Given the description of an element on the screen output the (x, y) to click on. 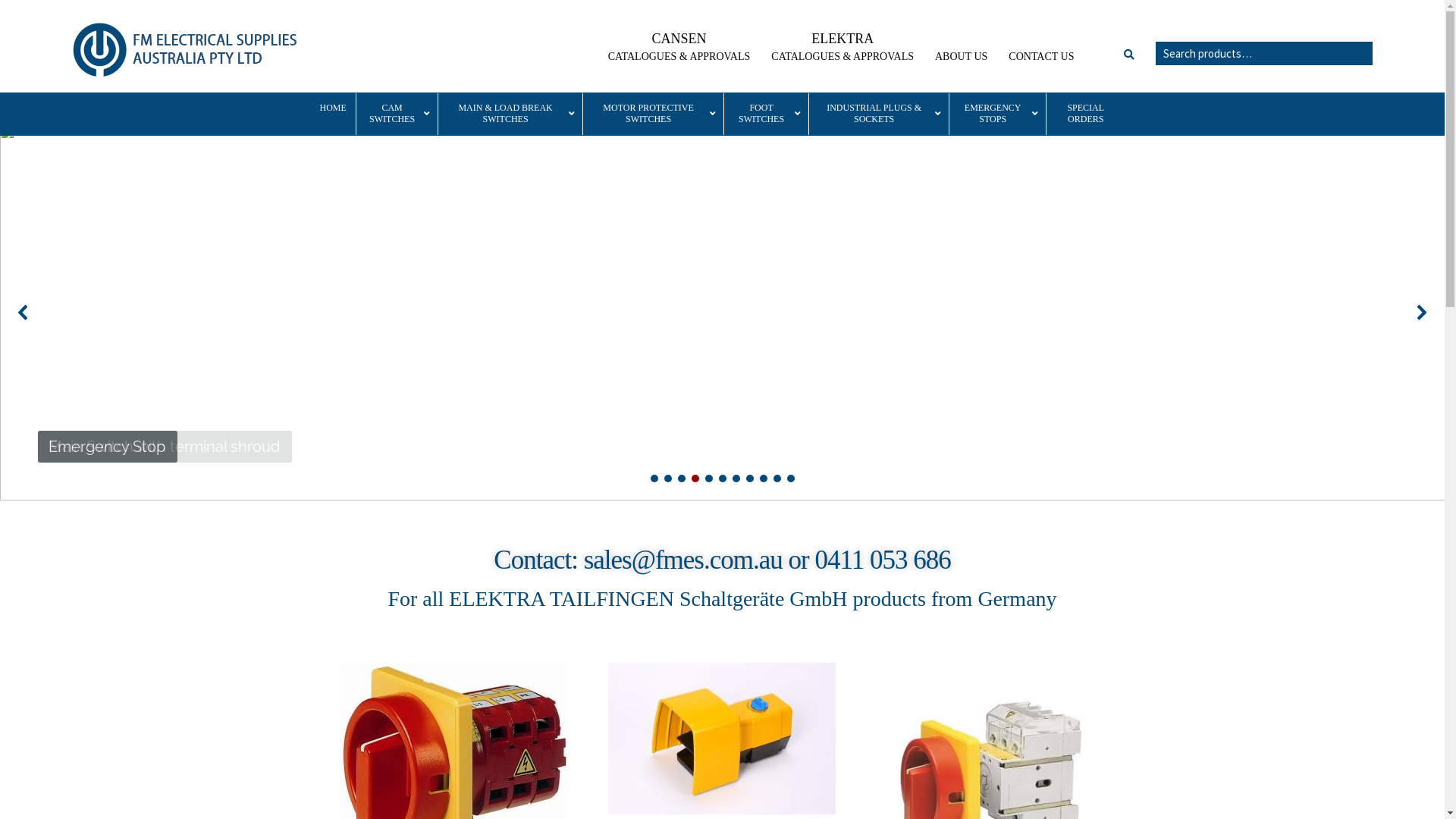
MOTOR PROTECTIVE SWITCHES Element type: text (652, 113)
HOME Element type: text (332, 108)
FOOT SWITCHES Element type: text (765, 113)
INDUSTRIAL PLUGS & SOCKETS Element type: text (878, 113)
CAM SWITCHES Element type: text (396, 113)
EMERGENCY STOPS Element type: text (996, 113)
CANSEN
CATALOGUES & APPROVALS Element type: text (678, 47)
MAIN & LOAD BREAK SWITCHES Element type: text (509, 113)
CONTACT US Element type: text (1041, 56)
SPECIAL ORDERS Element type: text (1084, 113)
ABOUT US Element type: text (961, 56)
Search Element type: text (1154, 40)
ELEKTRA
CATALOGUES & APPROVALS Element type: text (842, 47)
